Given the description of an element on the screen output the (x, y) to click on. 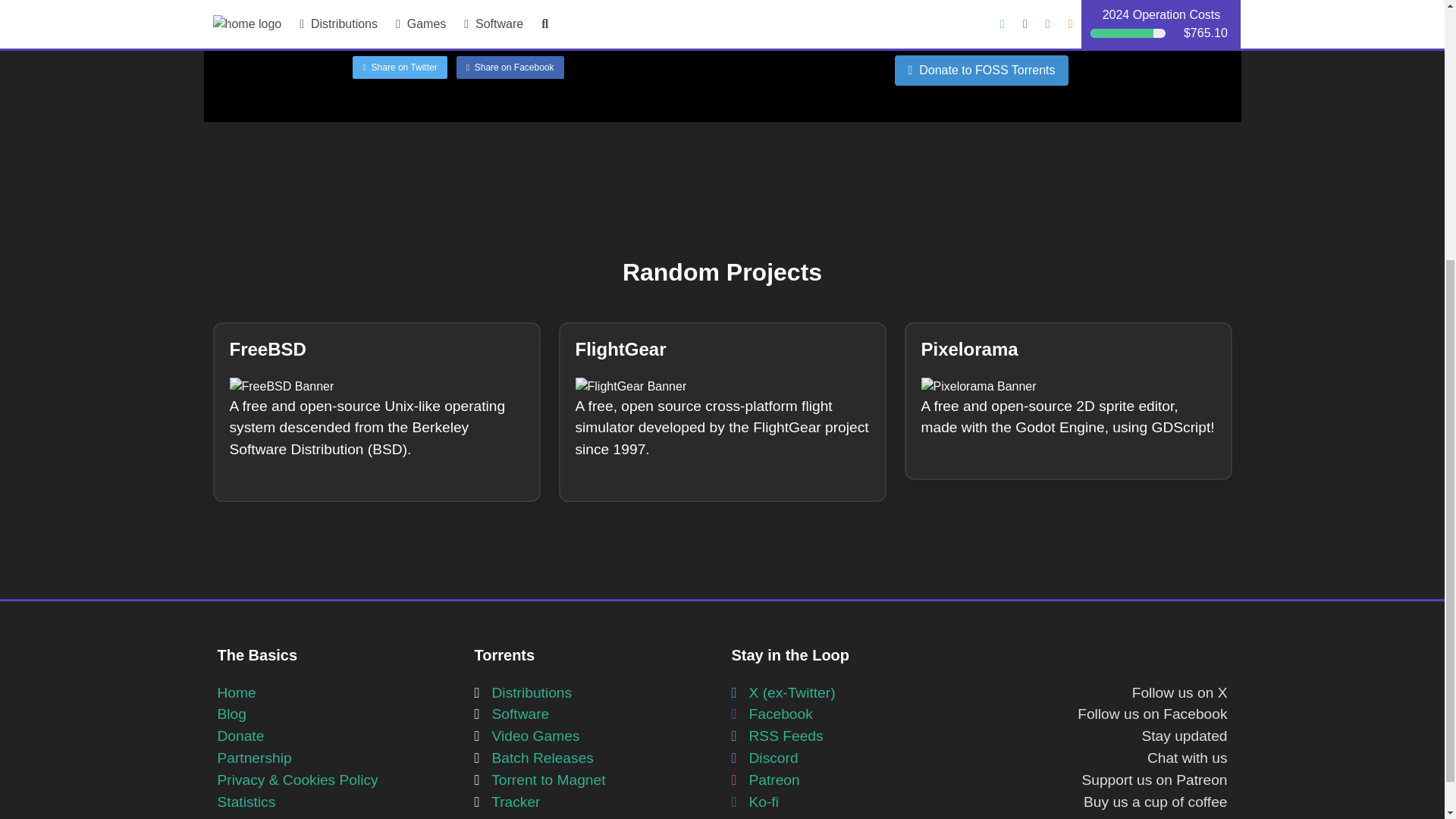
  Video Games (526, 735)
  Distributions (523, 692)
Blog (231, 713)
  Facebook (771, 713)
Partnership (253, 757)
  Donate to FOSS Torrents (981, 63)
  Patreon (764, 779)
Home (236, 692)
  Torrent to Magnet (539, 779)
  RSS Feeds (776, 735)
